Given the description of an element on the screen output the (x, y) to click on. 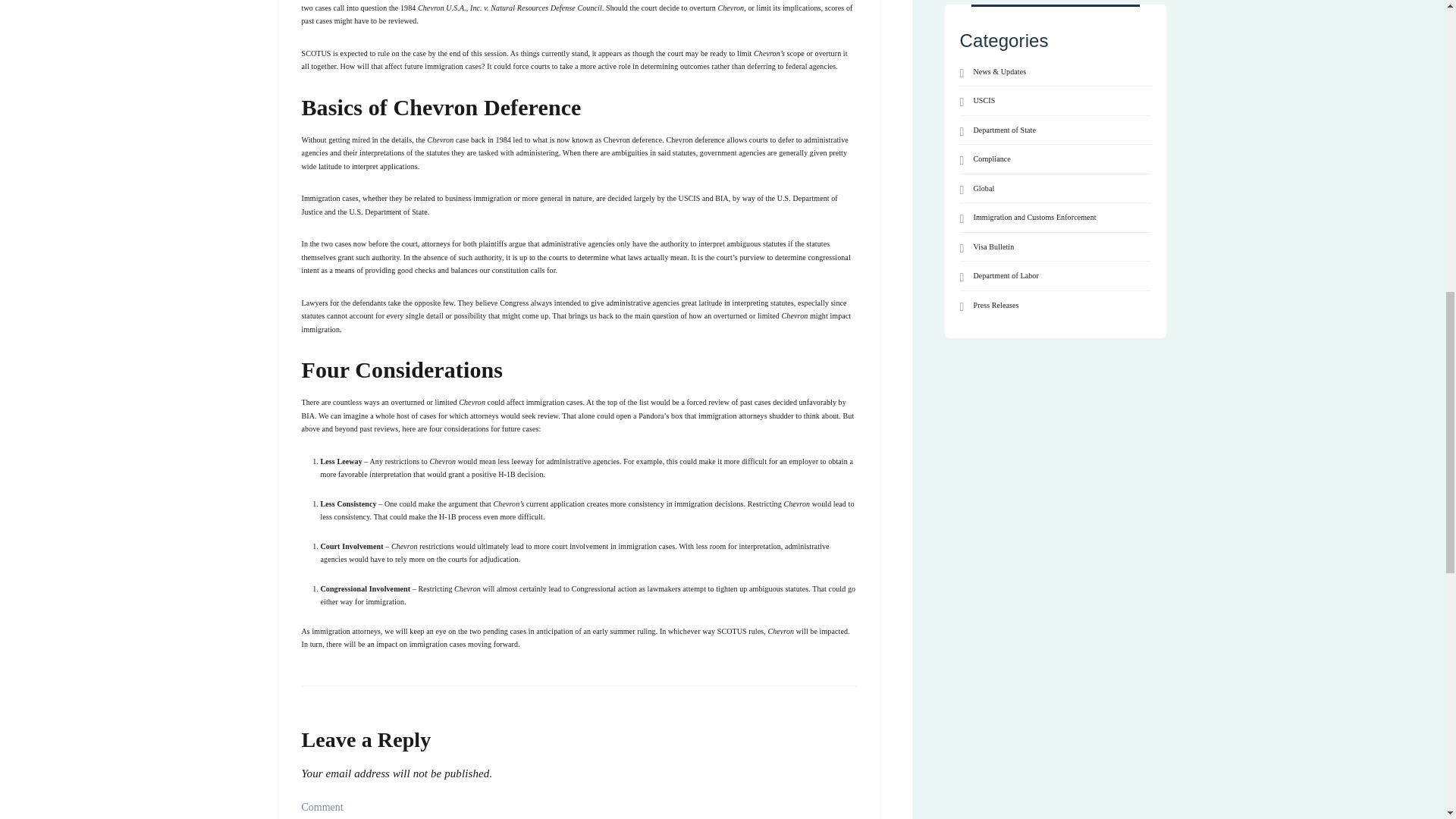
immigration (444, 66)
H-1B (506, 474)
business immigration (478, 198)
impact immigration (576, 322)
immigration attorneys (732, 415)
SCOTUS (316, 53)
